Given the description of an element on the screen output the (x, y) to click on. 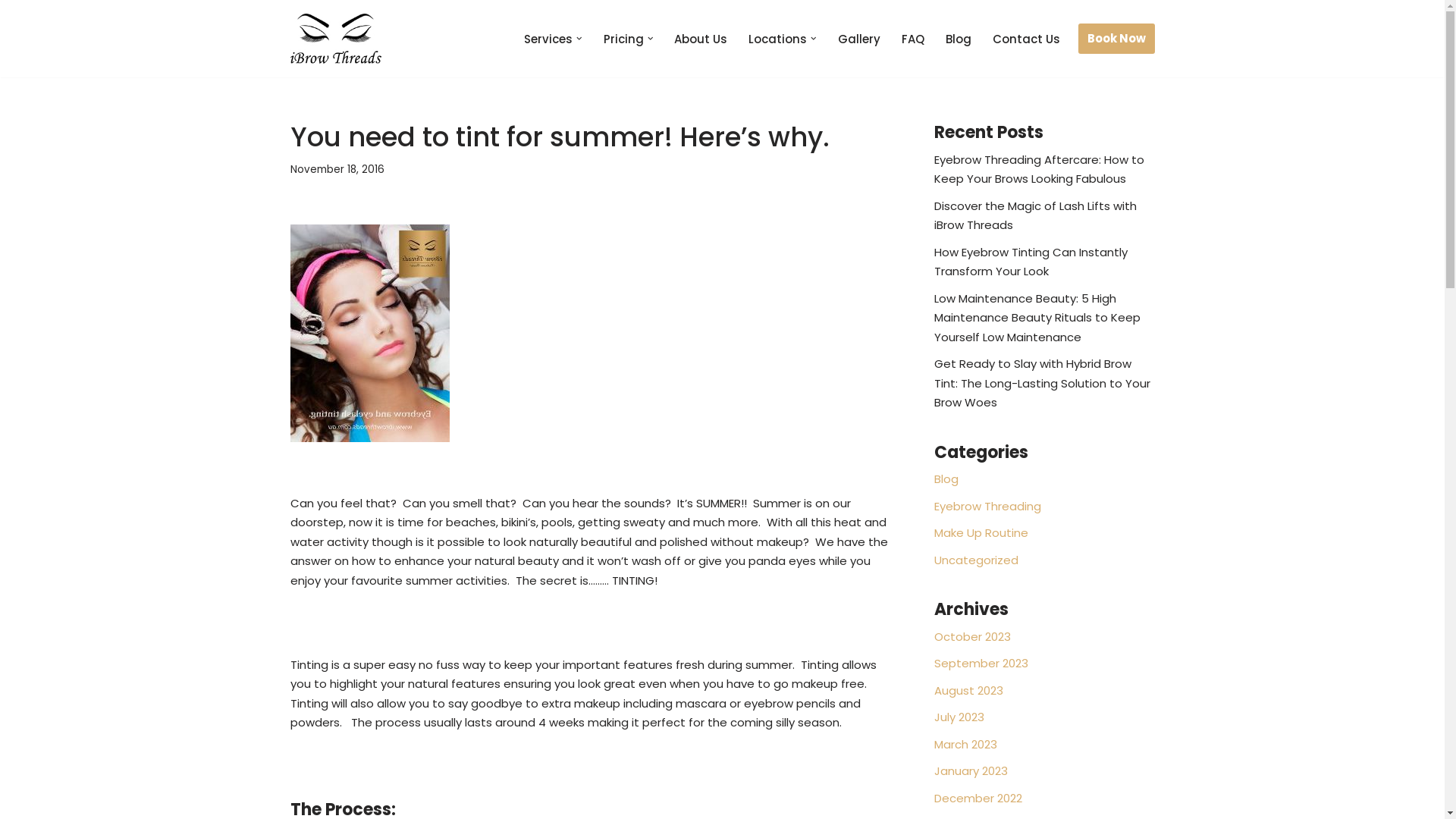
Make Up Routine Element type: text (981, 532)
Book Now Element type: text (1116, 38)
January 2023 Element type: text (970, 770)
March 2023 Element type: text (965, 744)
September 2023 Element type: text (981, 663)
December 2022 Element type: text (978, 798)
October 2023 Element type: text (972, 636)
July 2023 Element type: text (959, 716)
Blog Element type: text (957, 38)
Contact Us Element type: text (1025, 38)
Gallery Element type: text (858, 38)
FAQ Element type: text (911, 38)
Pricing Element type: text (623, 38)
Services Element type: text (548, 38)
How Eyebrow Tinting Can Instantly Transform Your Look Element type: text (1030, 261)
Discover the Magic of Lash Lifts with iBrow Threads Element type: text (1035, 215)
August 2023 Element type: text (968, 690)
Blog Element type: text (946, 478)
Locations Element type: text (777, 38)
Uncategorized Element type: text (976, 559)
Skip to content Element type: text (11, 31)
Eyebrow Threading Element type: text (987, 506)
About Us Element type: text (700, 38)
